Given the description of an element on the screen output the (x, y) to click on. 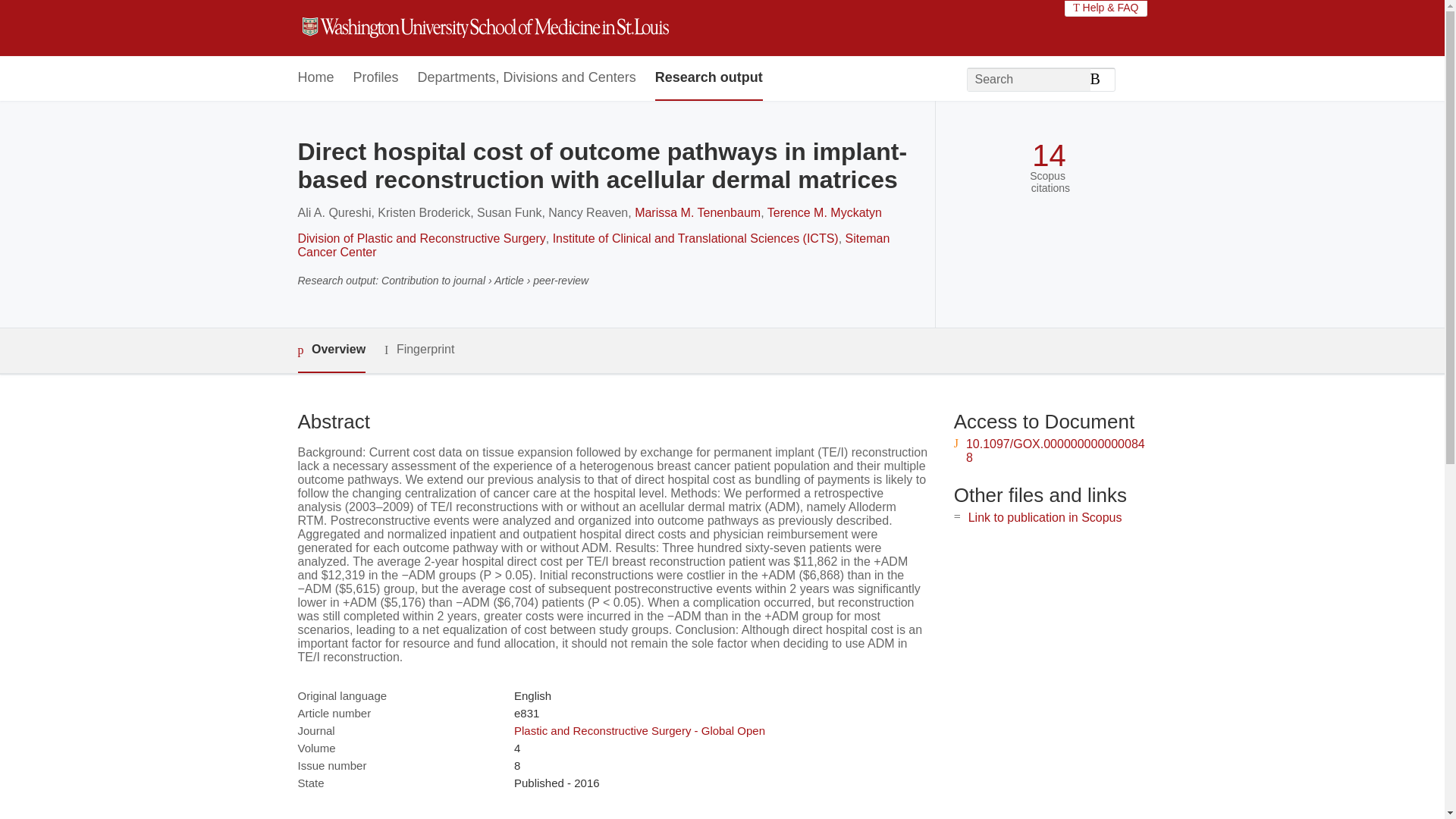
Marissa M. Tenenbaum (697, 212)
Link to publication in Scopus (1045, 517)
Research output (708, 78)
Siteman Cancer Center (593, 244)
14 (1048, 155)
Overview (331, 350)
Division of Plastic and Reconstructive Surgery (420, 237)
Plastic and Reconstructive Surgery - Global Open (639, 730)
